Given the description of an element on the screen output the (x, y) to click on. 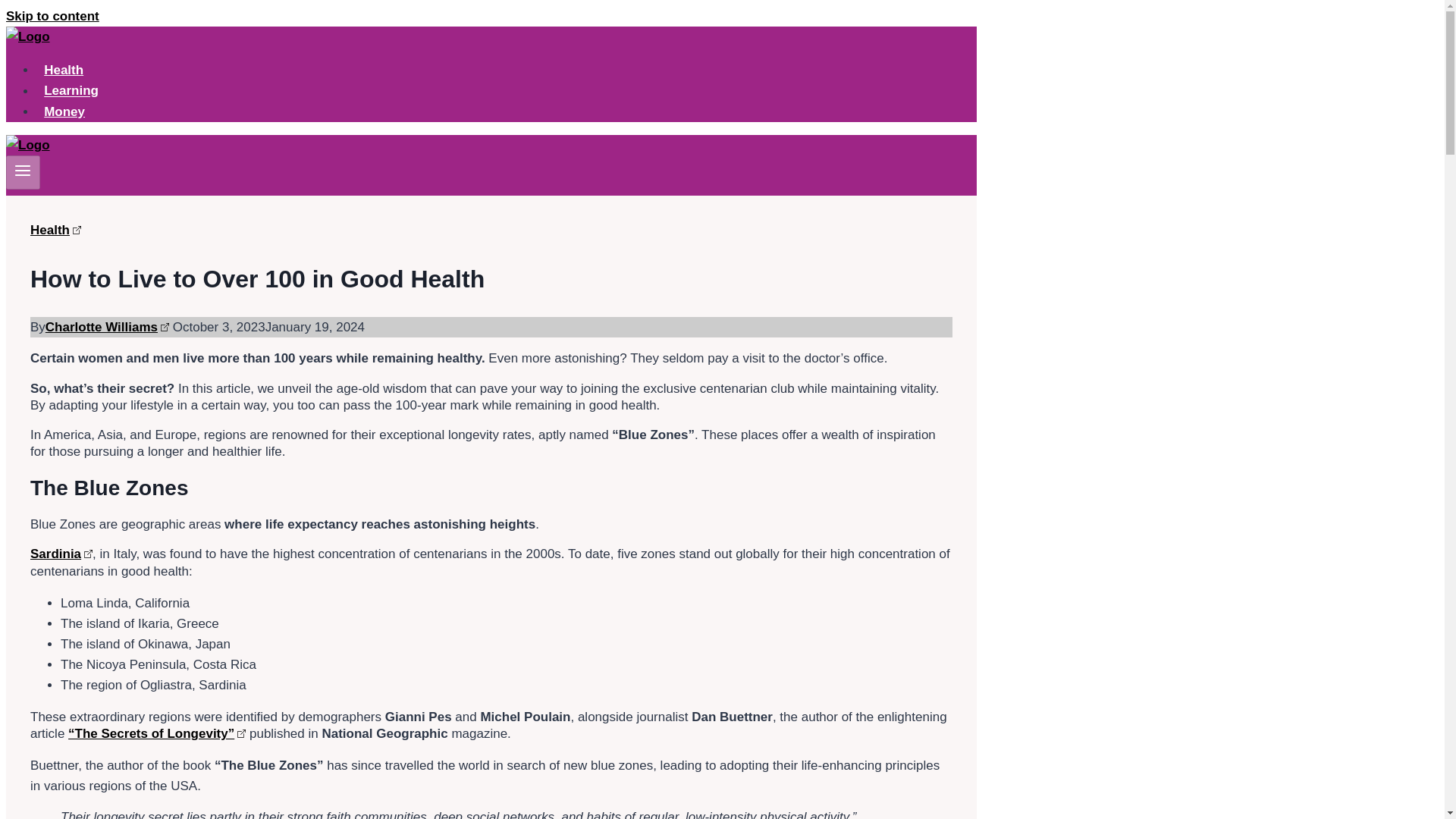
Money (64, 111)
Health (55, 229)
Toggle Menu (22, 172)
Sardinia (61, 554)
Learning (71, 90)
Charlotte Williams (106, 327)
Toggle Menu (22, 170)
Skip to content (52, 16)
Skip to content (52, 16)
Health (63, 70)
